Given the description of an element on the screen output the (x, y) to click on. 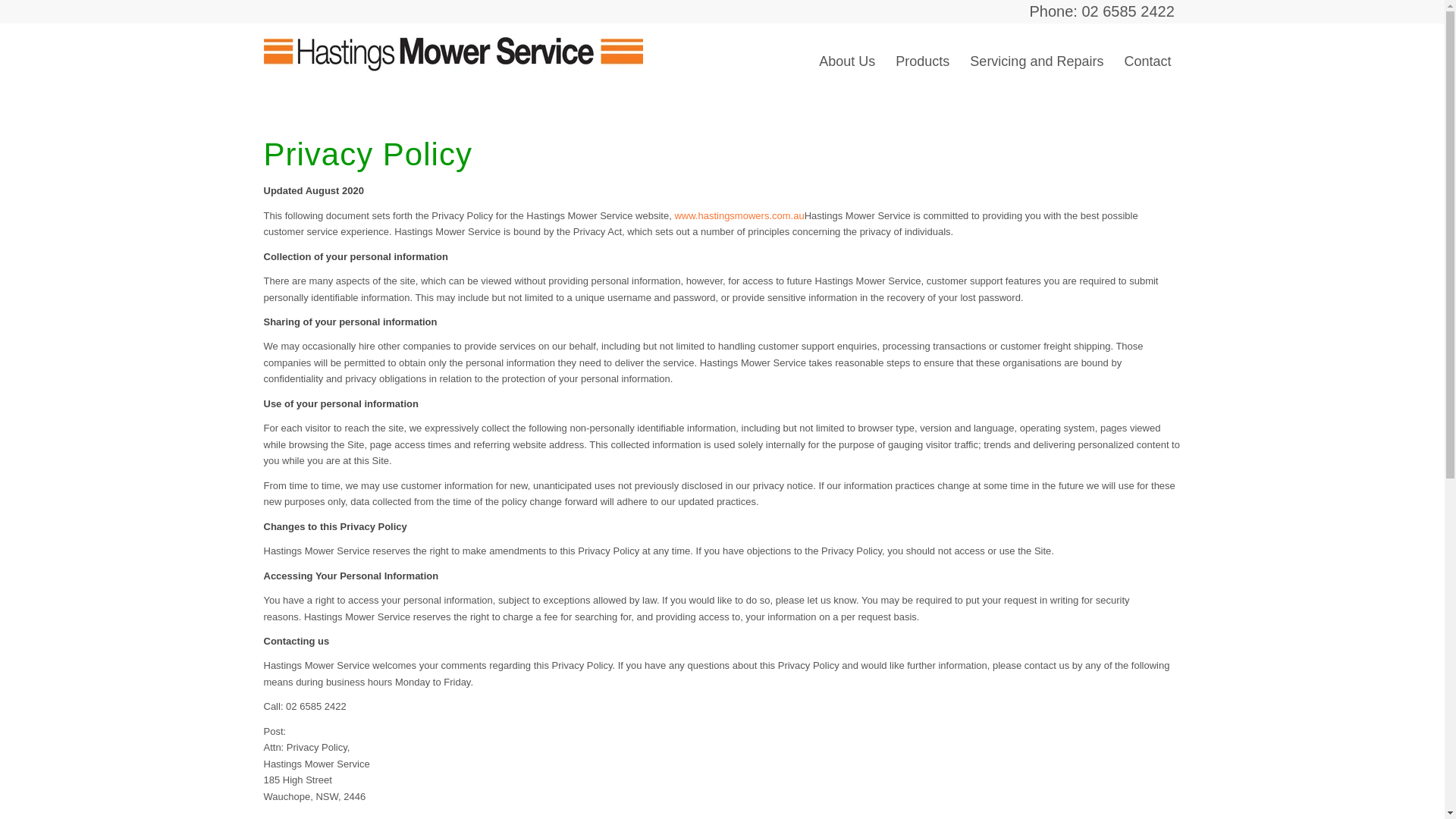
www.hastingsmowers.com.au Element type: text (738, 215)
Contact Element type: text (1146, 61)
Servicing and Repairs Element type: text (1036, 61)
Hastings Mower Service logo Element type: hover (453, 50)
Phone: 02 6585 2422 Element type: text (1101, 11)
About Us Element type: text (846, 61)
Products Element type: text (921, 61)
